Given the description of an element on the screen output the (x, y) to click on. 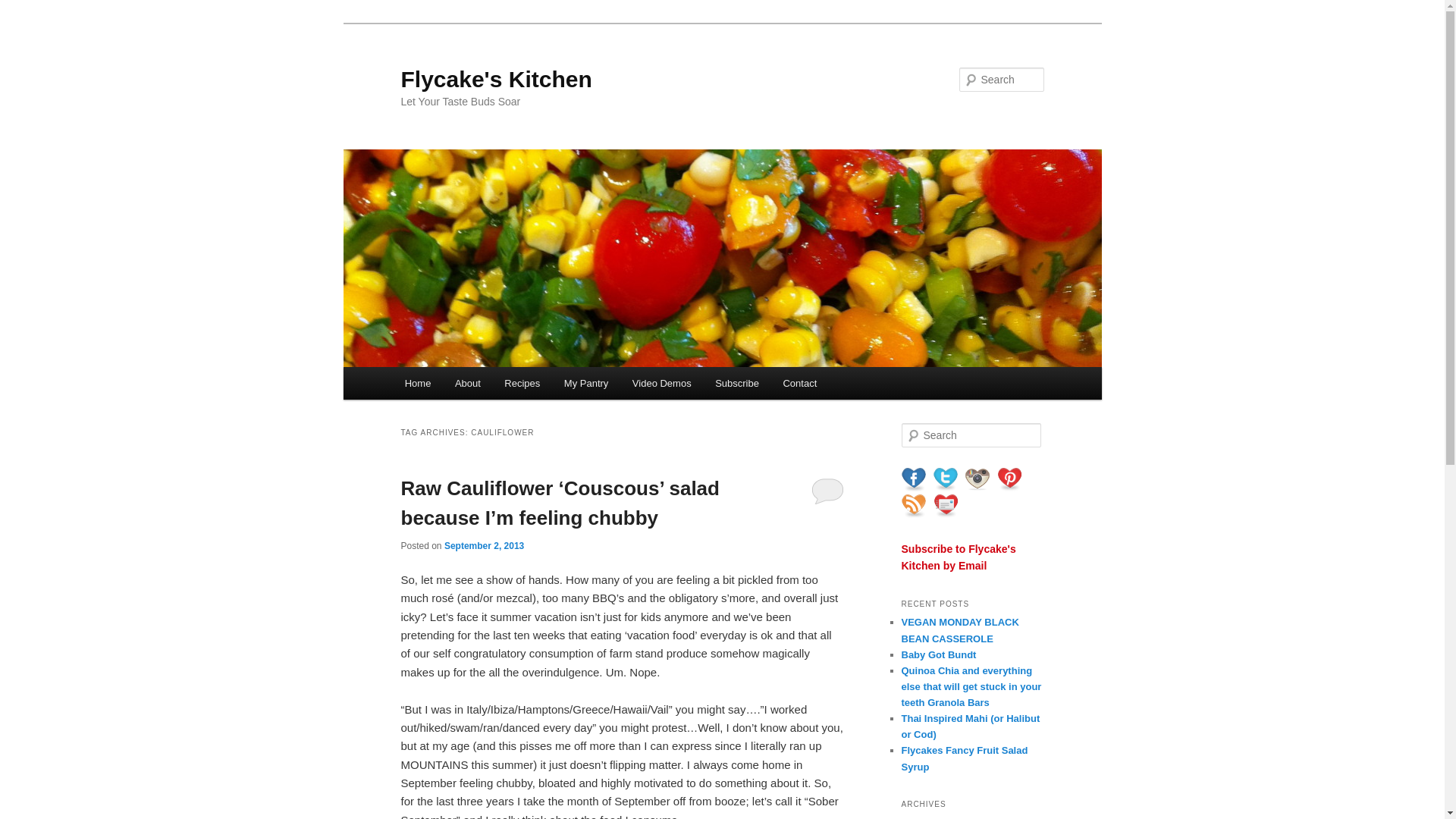
My Pantry (585, 382)
 RSS (912, 505)
Flycake's Kitchen (495, 78)
Home (417, 382)
 Twitter (944, 478)
Subscribe (736, 382)
7:21 pm (484, 545)
Search (24, 8)
Video Demos (661, 382)
Contact (799, 382)
